Given the description of an element on the screen output the (x, y) to click on. 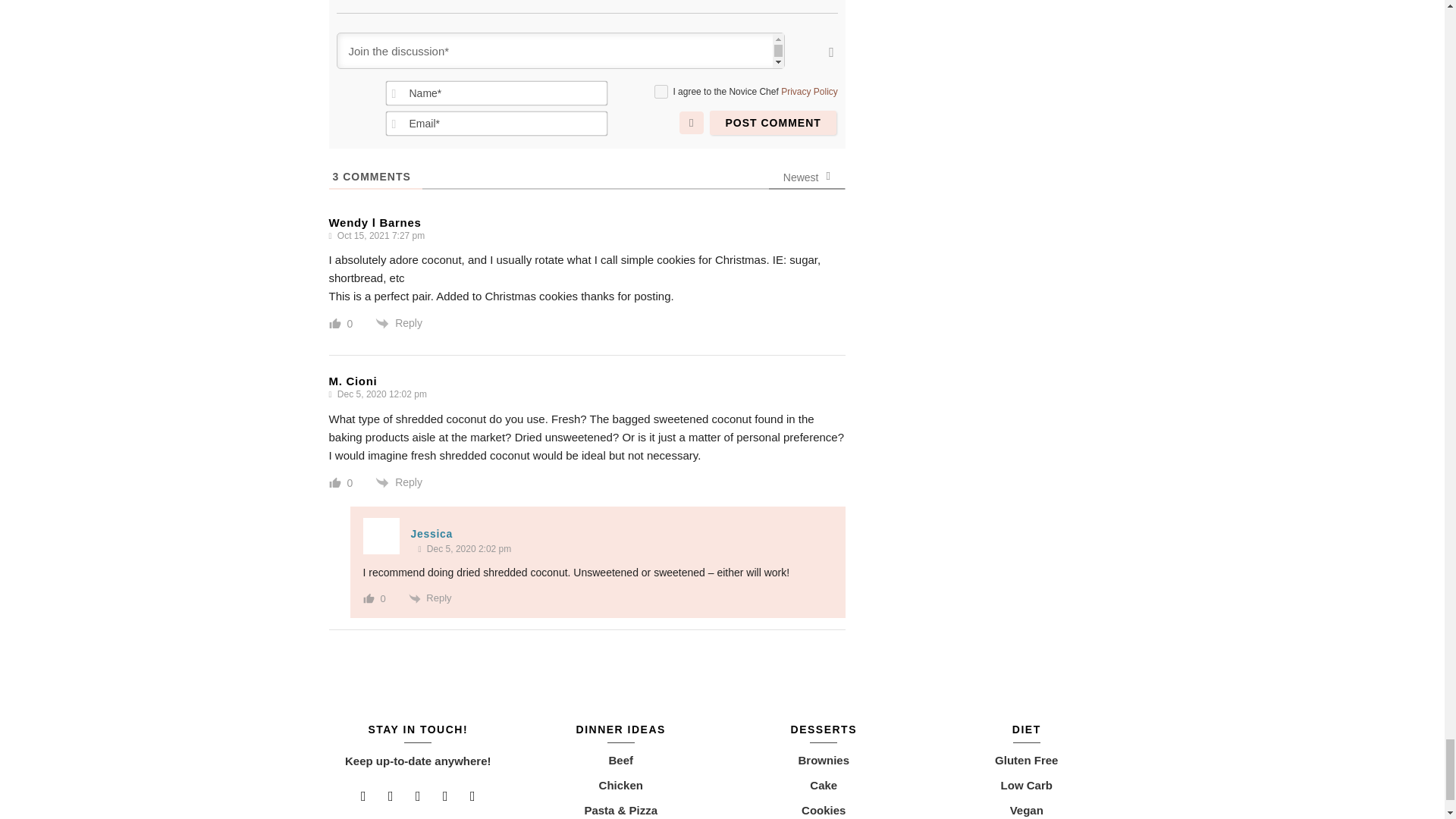
Post Comment (772, 122)
1 (660, 91)
